Given the description of an element on the screen output the (x, y) to click on. 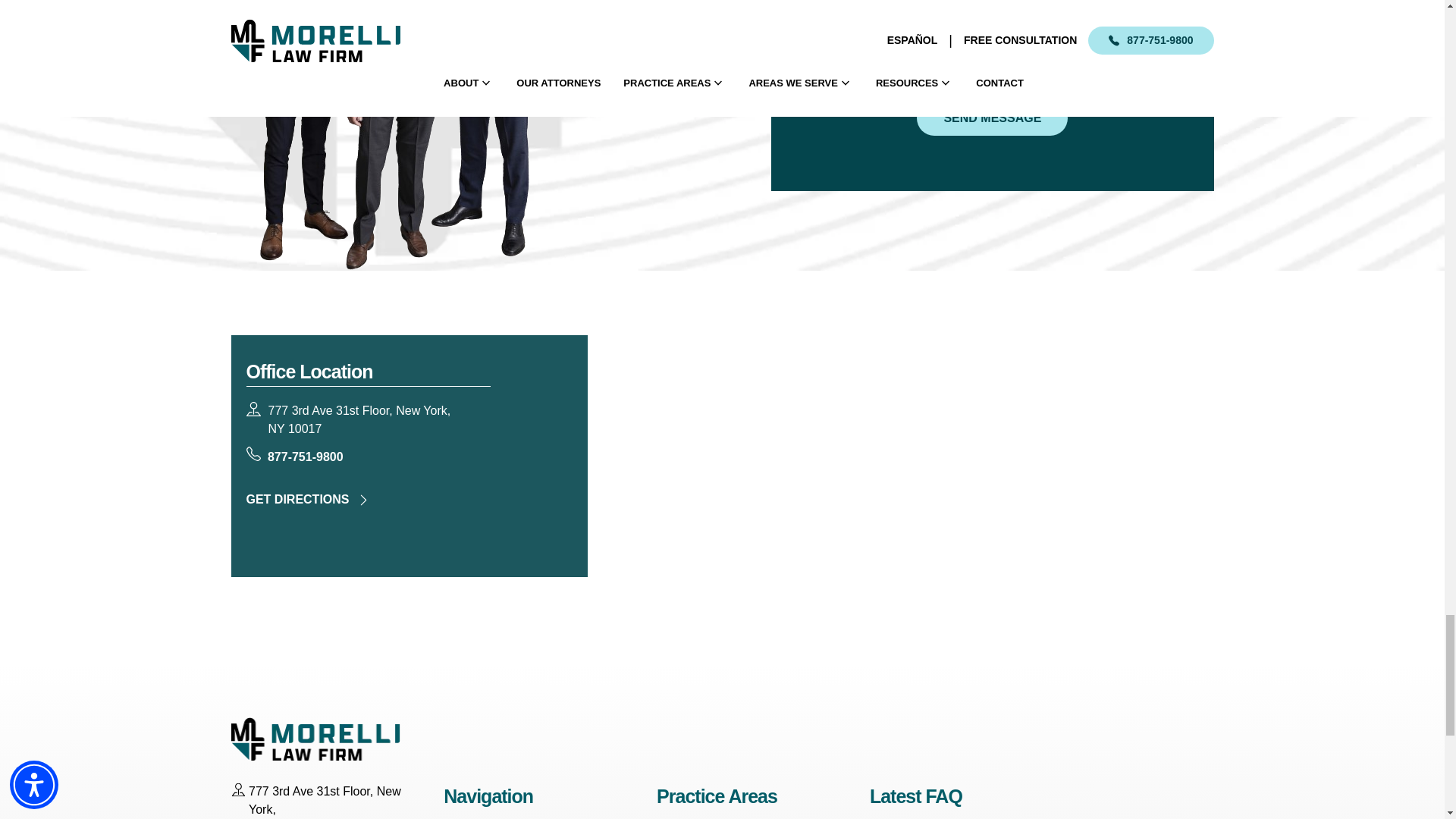
Send Message (992, 117)
